Given the description of an element on the screen output the (x, y) to click on. 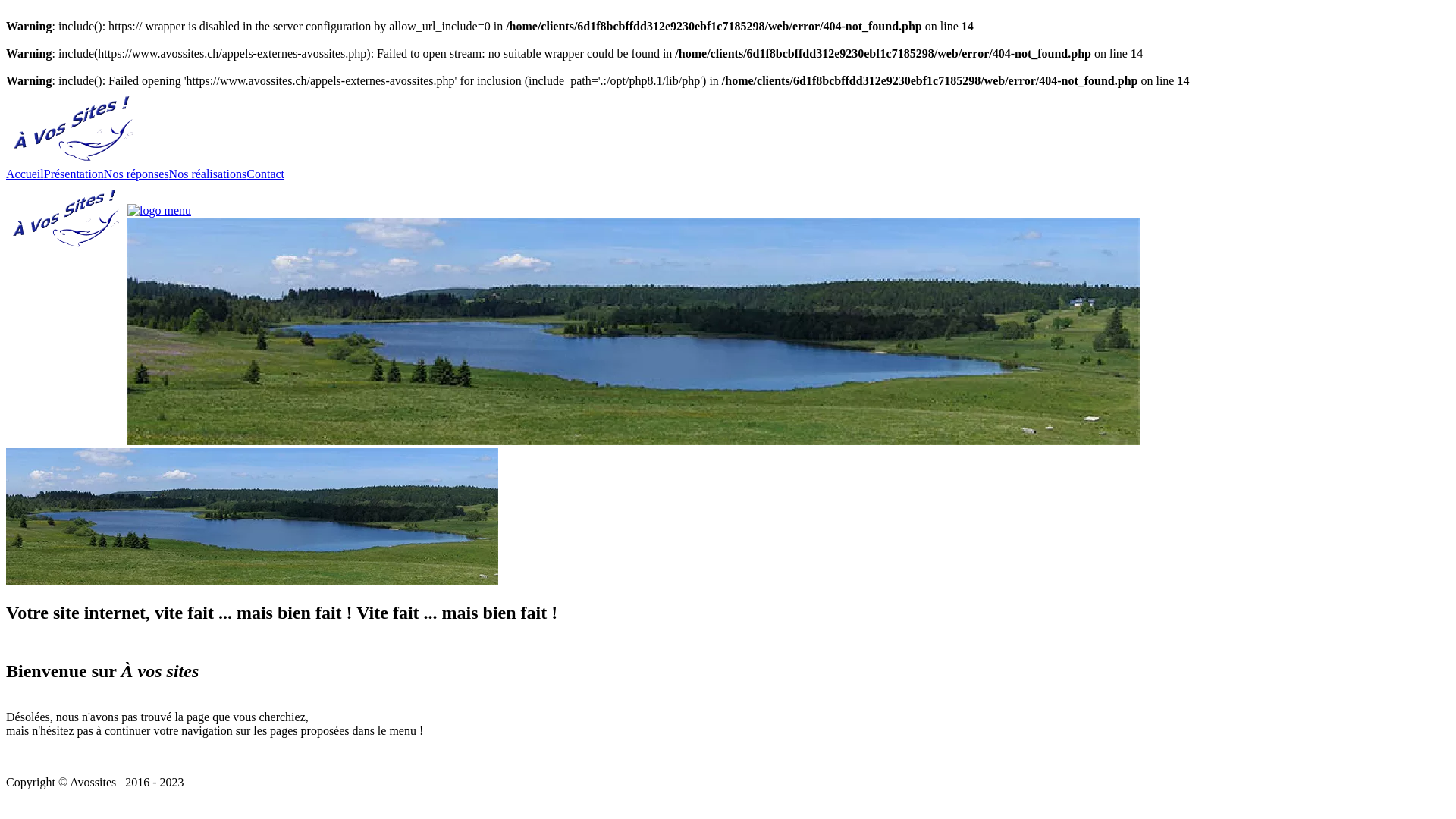
A vos sites Element type: hover (74, 159)
Accueil Element type: text (24, 173)
Contact Element type: text (265, 173)
